Given the description of an element on the screen output the (x, y) to click on. 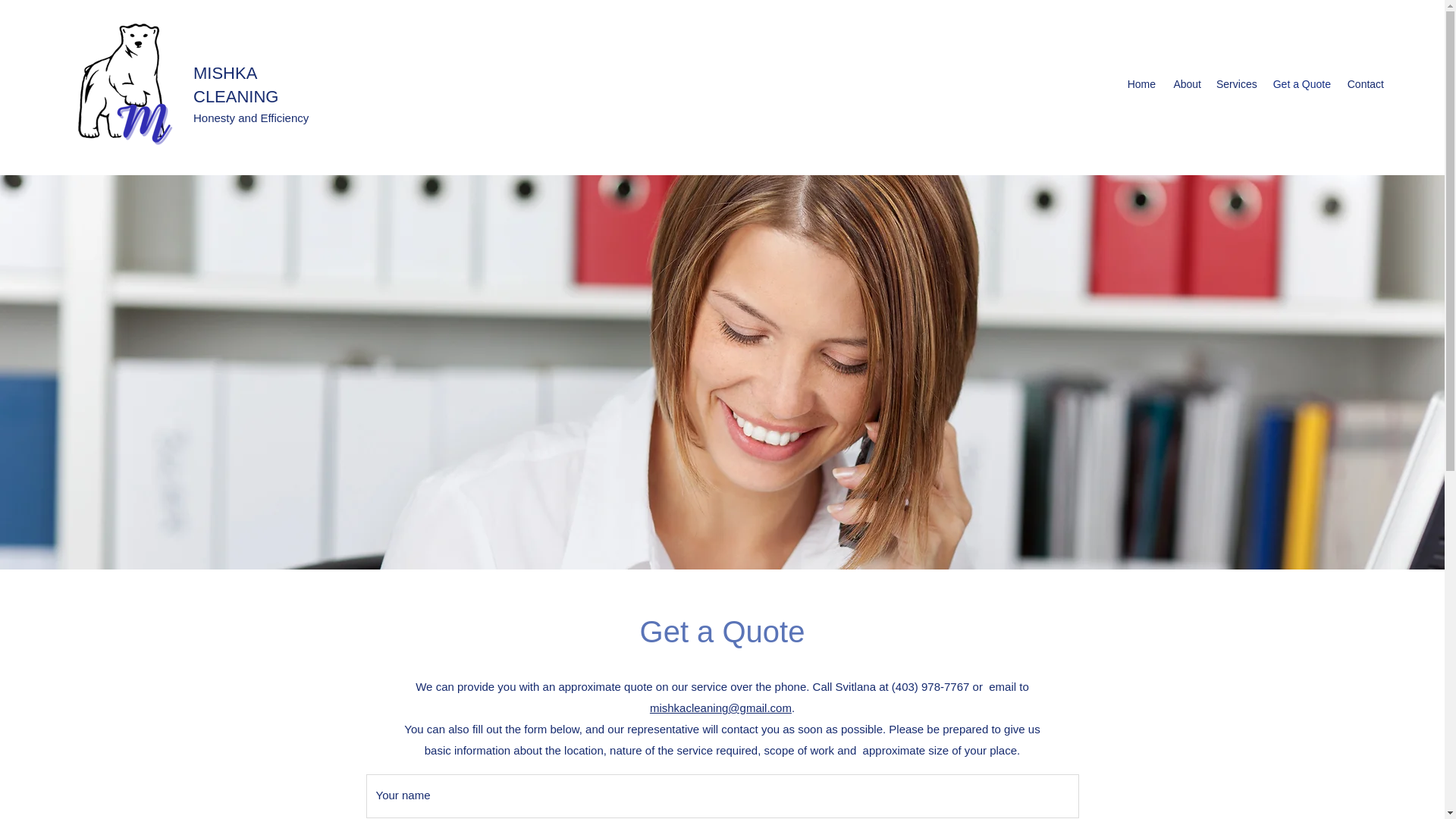
Home (1141, 83)
Services (1235, 83)
Get a Quote (1300, 83)
Contact (1364, 83)
About (1185, 83)
